Given the description of an element on the screen output the (x, y) to click on. 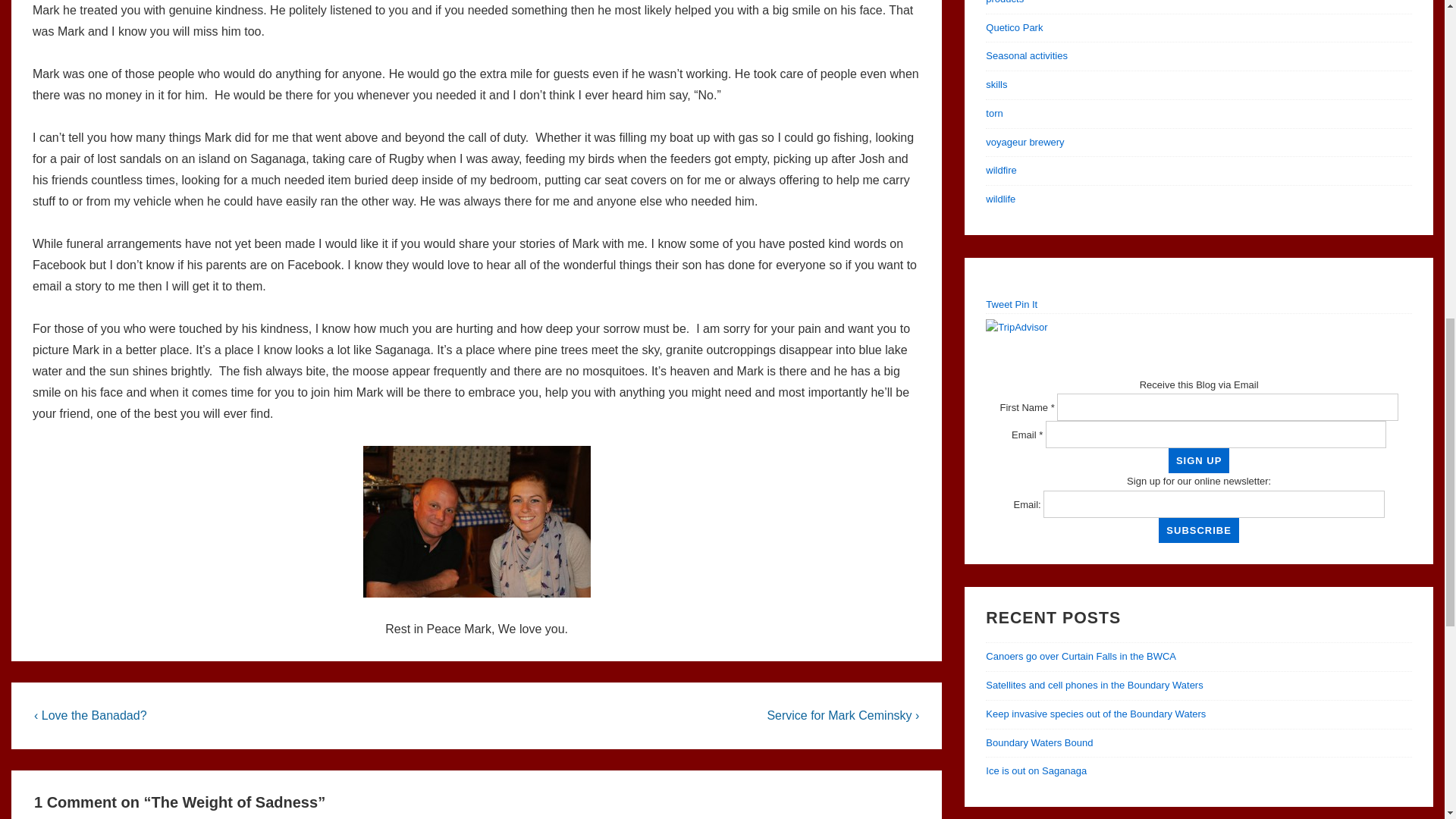
Pin It (1026, 304)
Sign Up (1198, 460)
voyageur brewery (1024, 142)
wildlife (999, 198)
Subscribe (1198, 529)
Quetico Park (1013, 27)
products (1004, 2)
skills (996, 84)
Seasonal activities (1026, 55)
Tweet (998, 304)
